Given the description of an element on the screen output the (x, y) to click on. 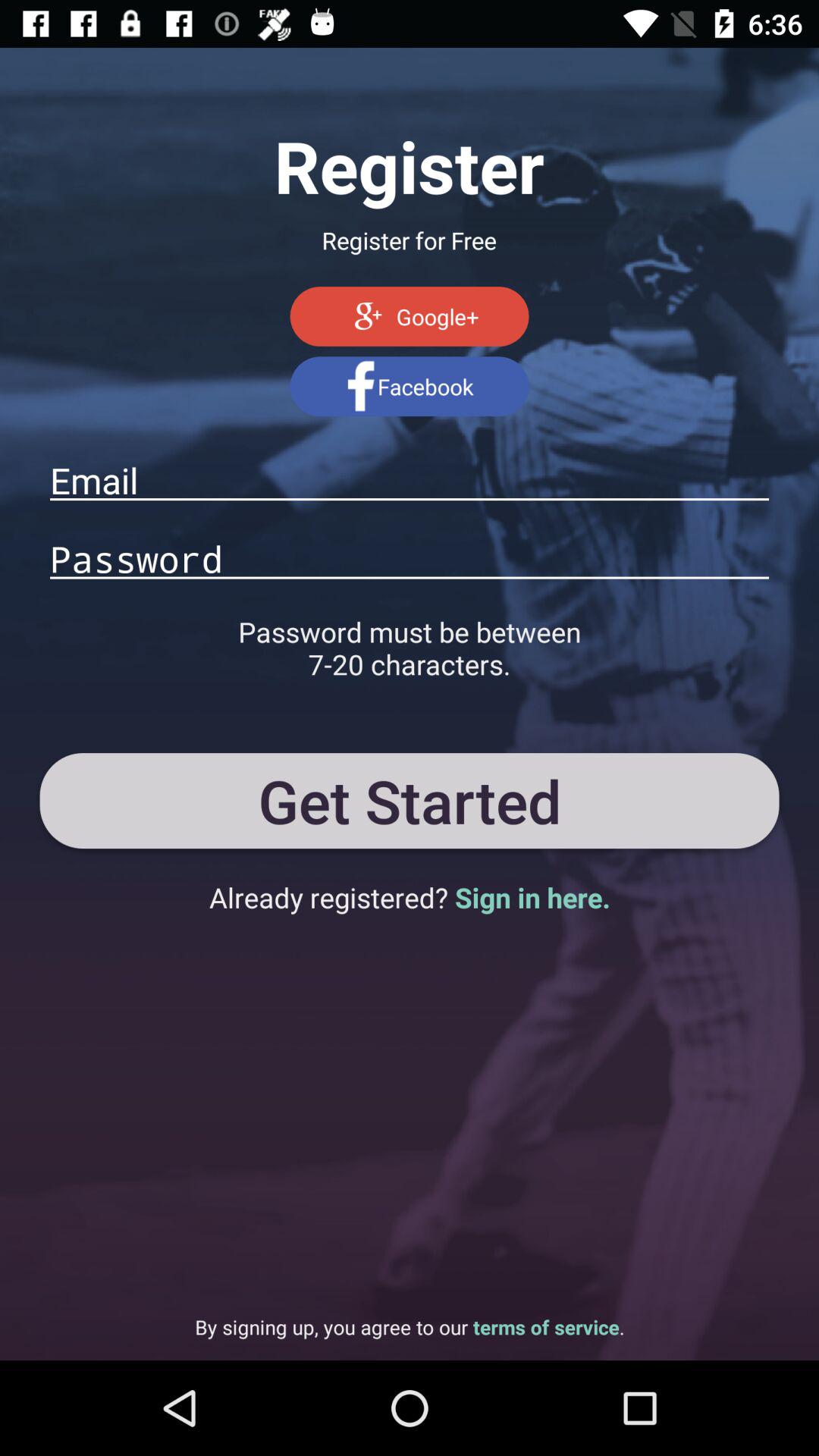
flip until the already registered sign item (409, 897)
